Given the description of an element on the screen output the (x, y) to click on. 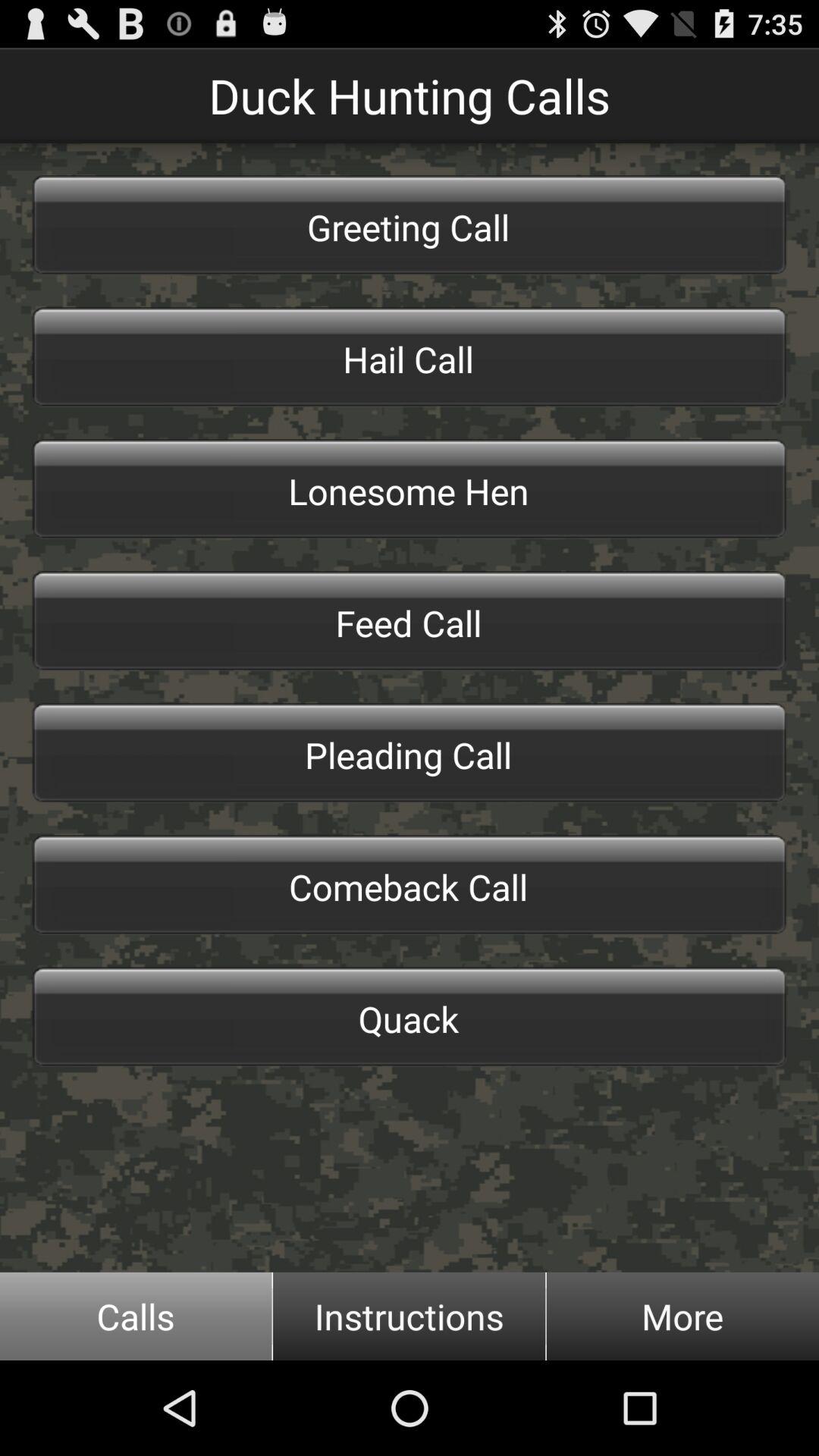
click the icon below the comeback call icon (409, 1016)
